Given the description of an element on the screen output the (x, y) to click on. 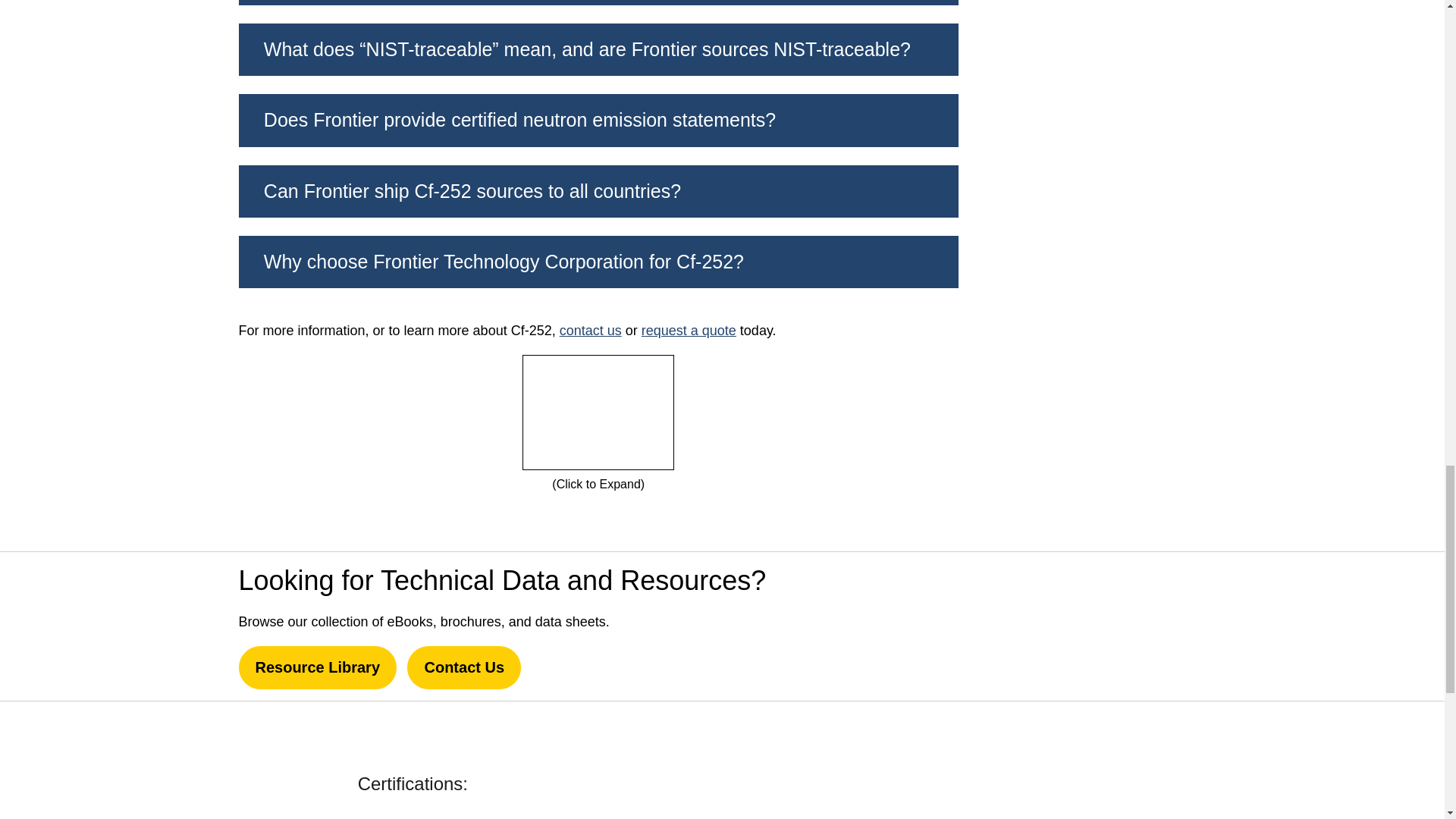
Thomas Verified Supplier (565, 782)
Looking for Technical Data and Resources? (1110, 626)
IAEA (873, 781)
RAM Certified (1048, 781)
Frequently Asked Questions About Californium-252 (598, 412)
